Given the description of an element on the screen output the (x, y) to click on. 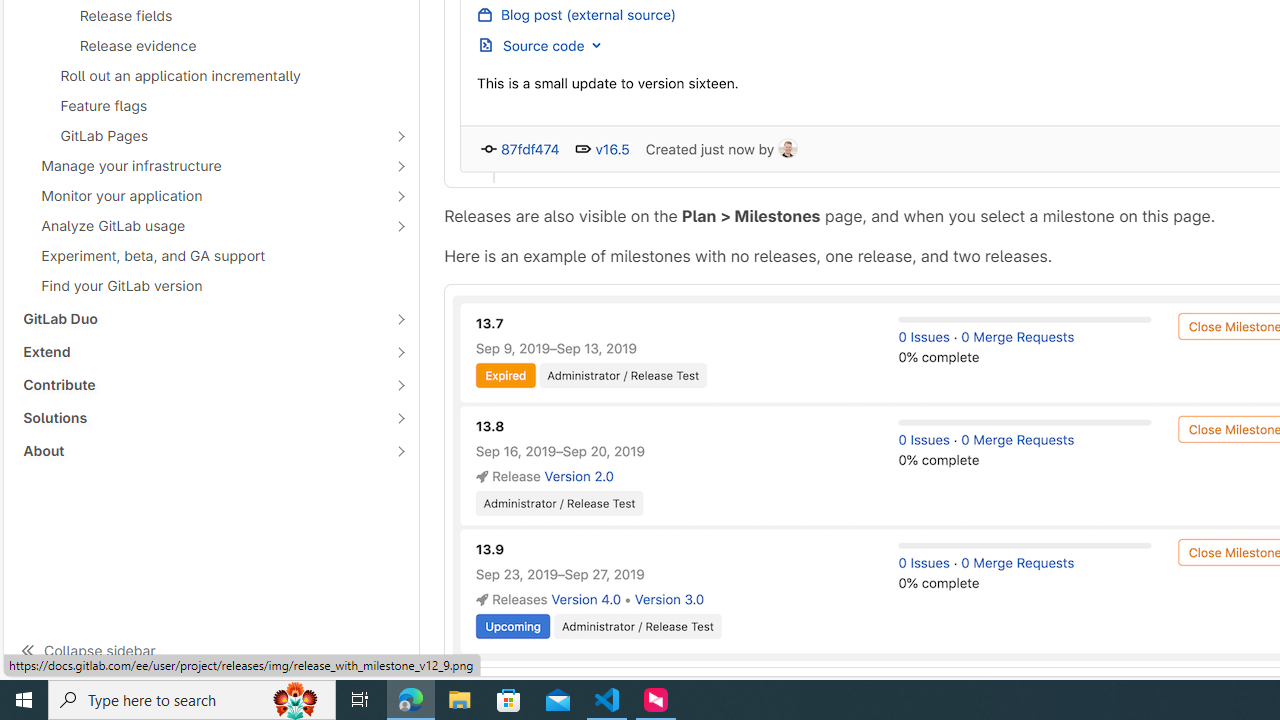
Contribute (199, 385)
Manage your infrastructure (199, 165)
Extend (199, 351)
Collapse sidebar (211, 650)
GitLab Duo (199, 318)
Analyze GitLab usage (199, 225)
Monitor your application (199, 195)
Find your GitLab version (211, 285)
Roll out an application incrementally (211, 75)
GitLab Pages (199, 135)
Release fields (211, 15)
Release evidence (211, 45)
Solutions (199, 417)
Feature flags (211, 105)
